Given the description of an element on the screen output the (x, y) to click on. 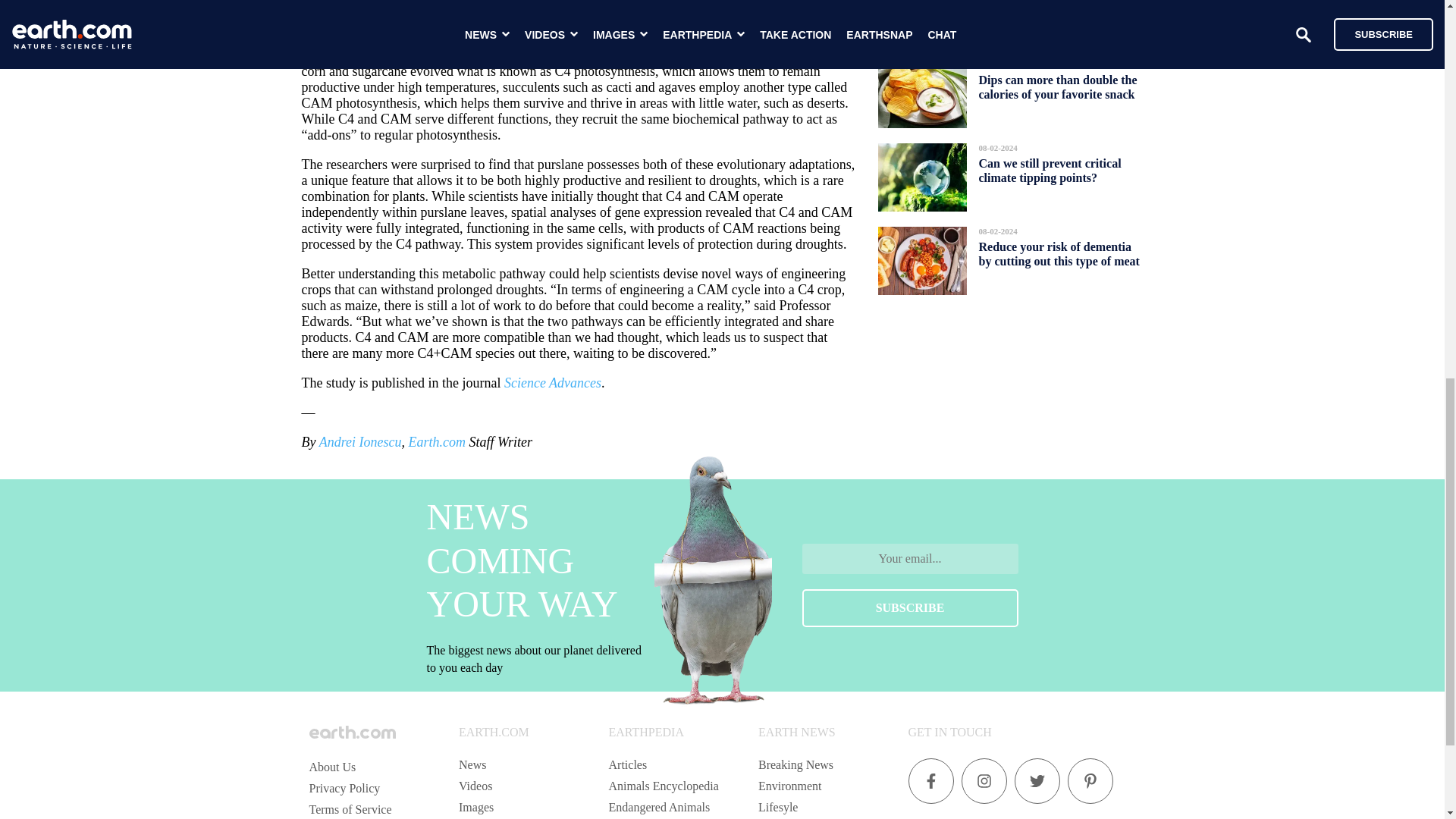
Earth.com (436, 441)
SUBSCRIBE (909, 607)
Science Advances (552, 382)
Can we still prevent critical climate tipping points? (1049, 170)
Andrei Ionescu (359, 441)
